Given the description of an element on the screen output the (x, y) to click on. 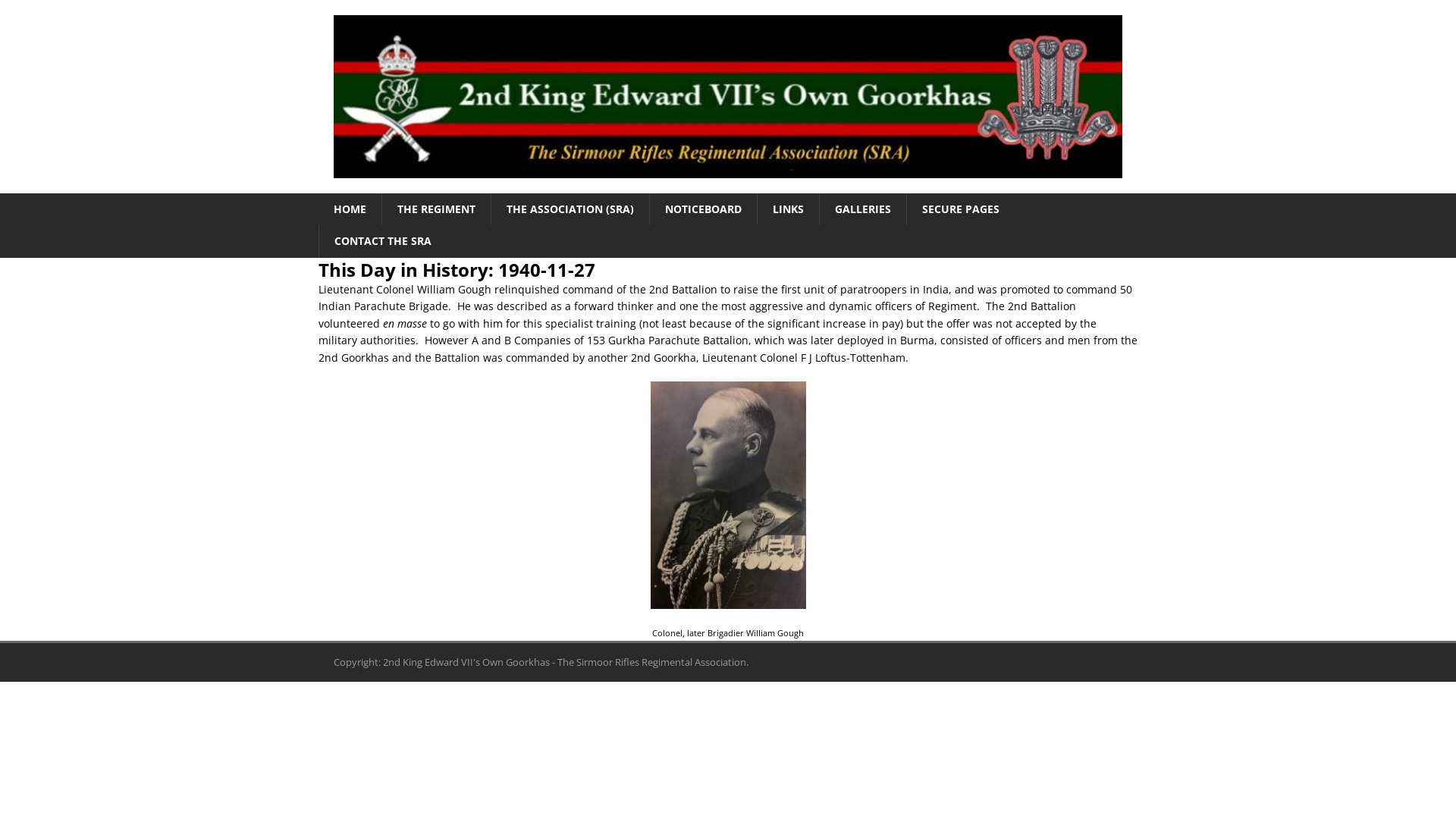
NOTICEBOARD Element type: text (702, 209)
GALLERIES Element type: text (862, 209)
THE REGIMENT Element type: text (435, 209)
CONTACT THE SRA Element type: text (382, 241)
HOME Element type: text (349, 209)
LINKS Element type: text (787, 209)
THE ASSOCIATION (SRA) Element type: text (569, 209)
SECURE PAGES Element type: text (960, 209)
Sirmoor Rifles Association Element type: hover (727, 96)
